Given the description of an element on the screen output the (x, y) to click on. 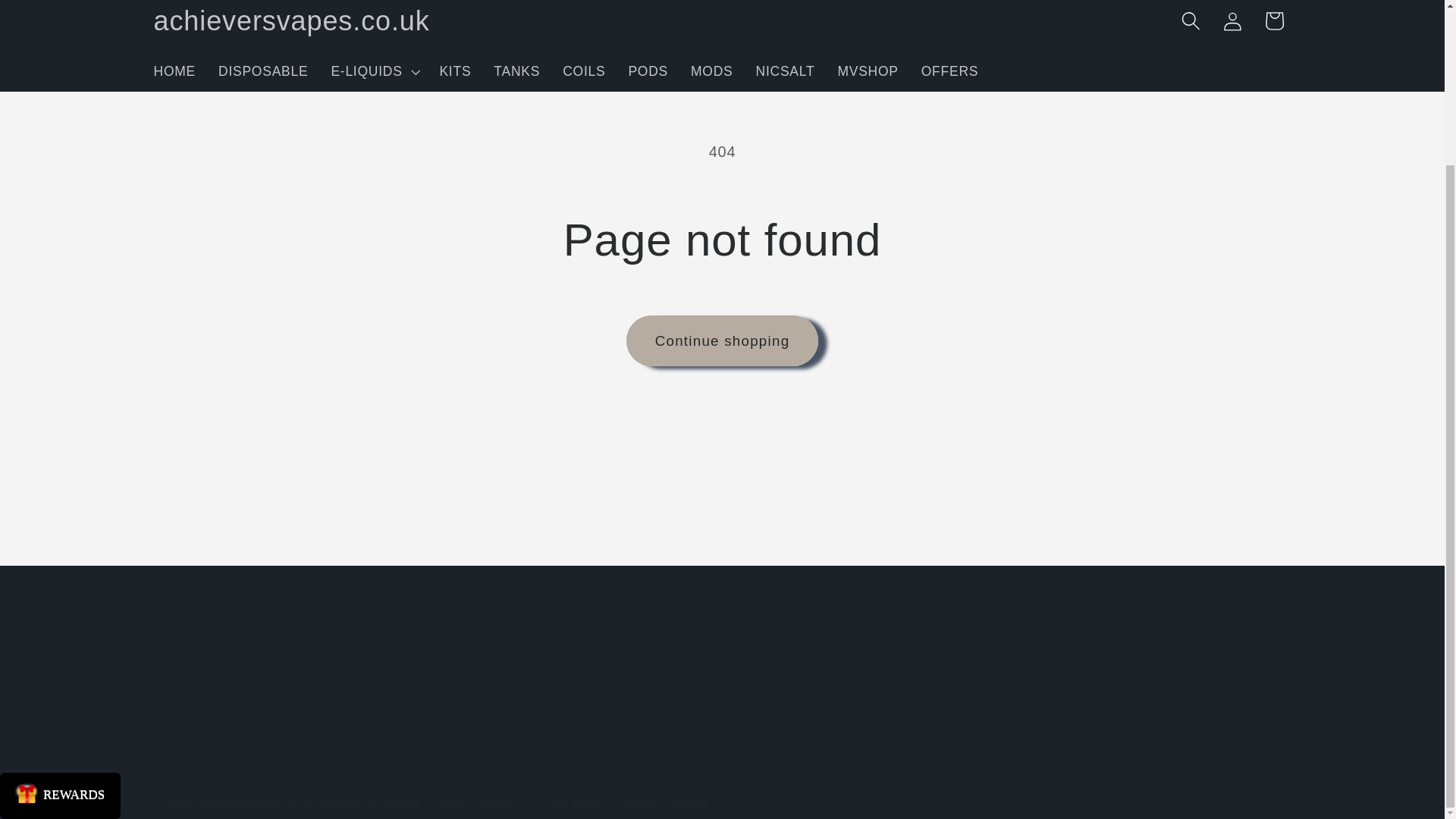
COILS (583, 1)
MODS (711, 1)
DISPOSABLE (262, 1)
NICSALT (785, 1)
Continue shopping (722, 340)
HOME (175, 1)
OFFERS (950, 1)
MVSHOP (866, 1)
